Given the description of an element on the screen output the (x, y) to click on. 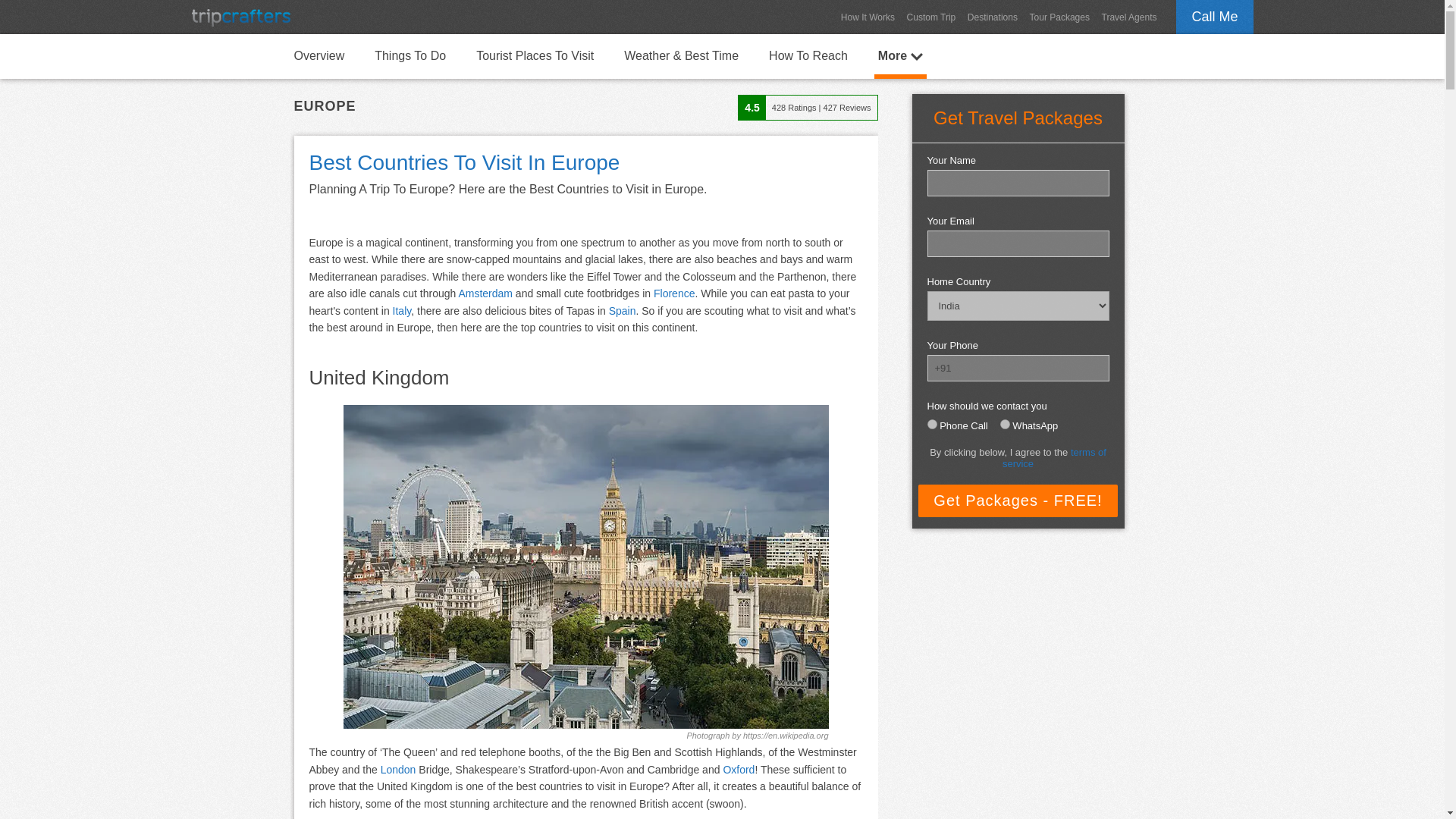
Things To Do (410, 54)
TripCrafters.com (239, 17)
Custom Trip (931, 17)
How To Reach (808, 54)
Things To Do In Europe (410, 54)
Europe Tourism And Travel Guide (318, 54)
WhatsApp (1005, 424)
Tourist Places To Visit In Europe (533, 54)
How It Works (867, 17)
Travel Destinations (992, 17)
Amsterdam (485, 293)
TripCrafters.com (239, 17)
Europe Weather And Best Time To Visit Europe (681, 54)
How To Reach Europe (808, 54)
Call Me (1214, 17)
